Given the description of an element on the screen output the (x, y) to click on. 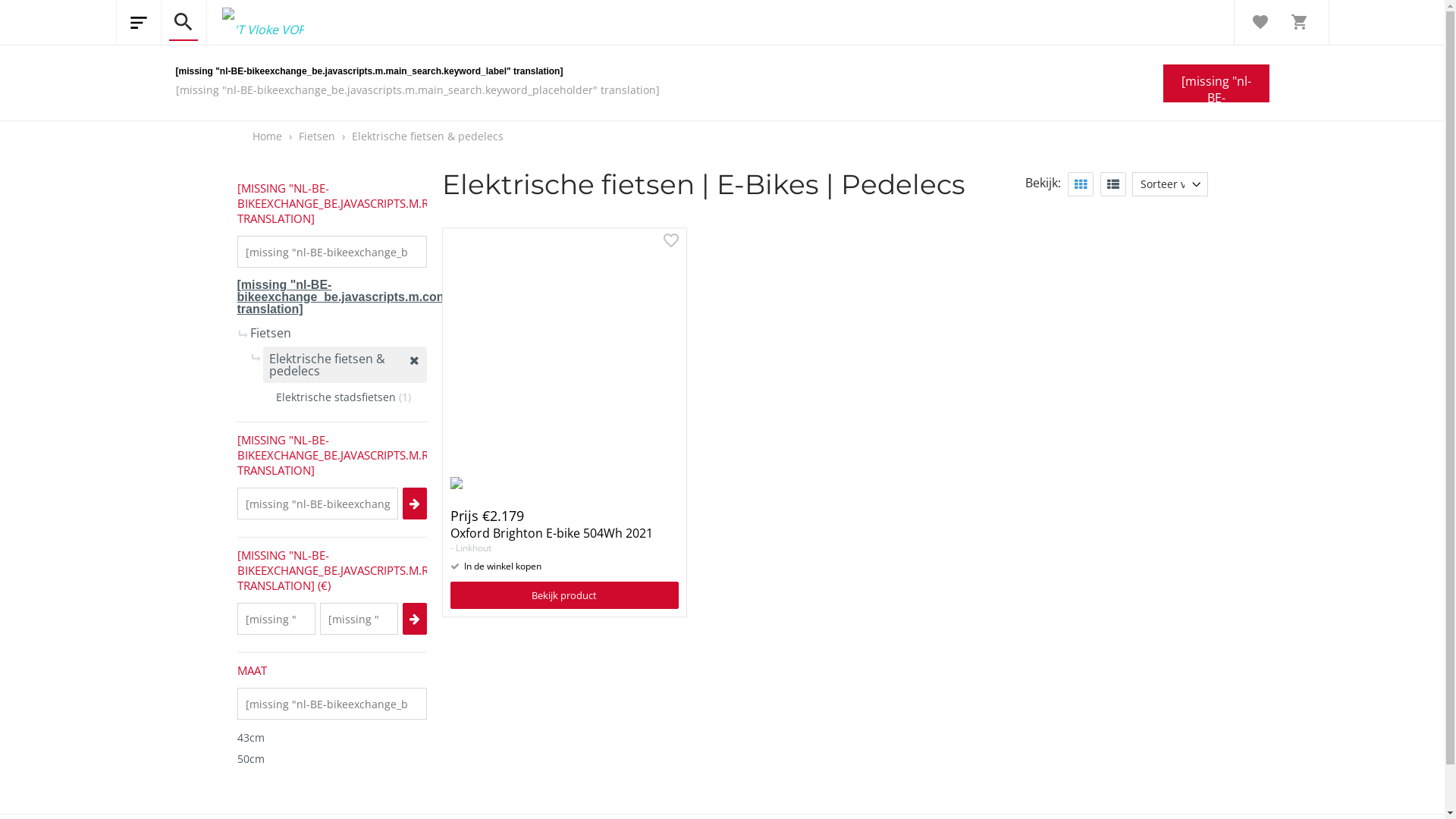
Oxford Brighton E-bike 504Wh 2021 Element type: text (551, 532)
Elektrische fietsen & pedelecs Element type: text (427, 135)
Home Element type: text (266, 135)
Fietsen Element type: text (318, 135)
'T Vloke VOF Home pagina Element type: hover (254, 22)
MAAT Element type: text (331, 669)
Bekijk product Element type: text (564, 594)
